Given the description of an element on the screen output the (x, y) to click on. 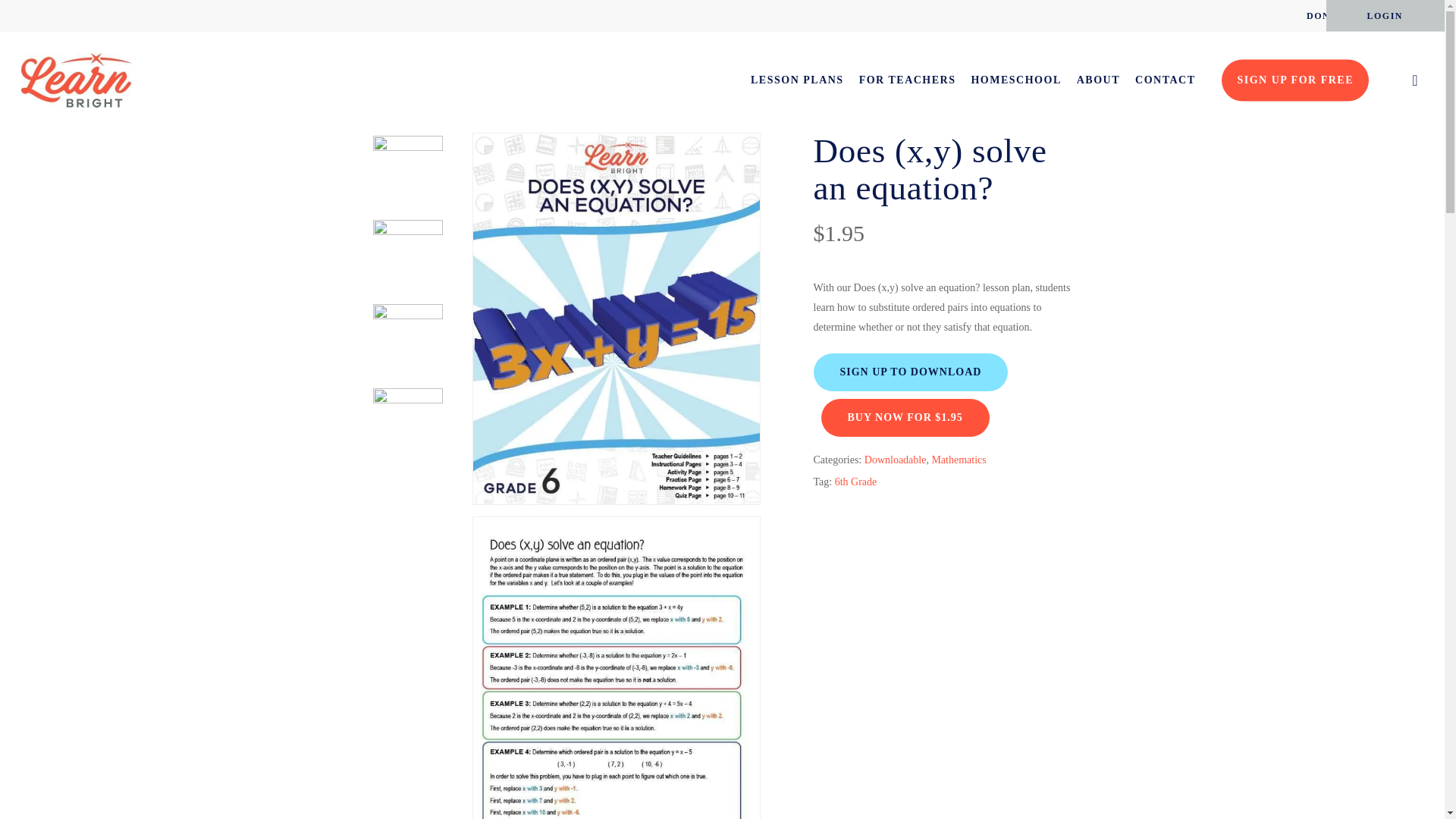
HOMESCHOOL (1016, 79)
CONTACT (1165, 79)
LOGIN (1385, 15)
Mathematics (512, 110)
Downloadable (895, 459)
Home (384, 110)
ABOUT (1098, 79)
Lesson Plans (442, 110)
6th Grade (855, 481)
LESSON PLANS (797, 79)
Mathematics (958, 459)
SIGN UP FOR FREE (1294, 79)
SIGN UP TO DOWNLOAD (909, 373)
FOR TEACHERS (907, 79)
DONATE (1328, 15)
